Given the description of an element on the screen output the (x, y) to click on. 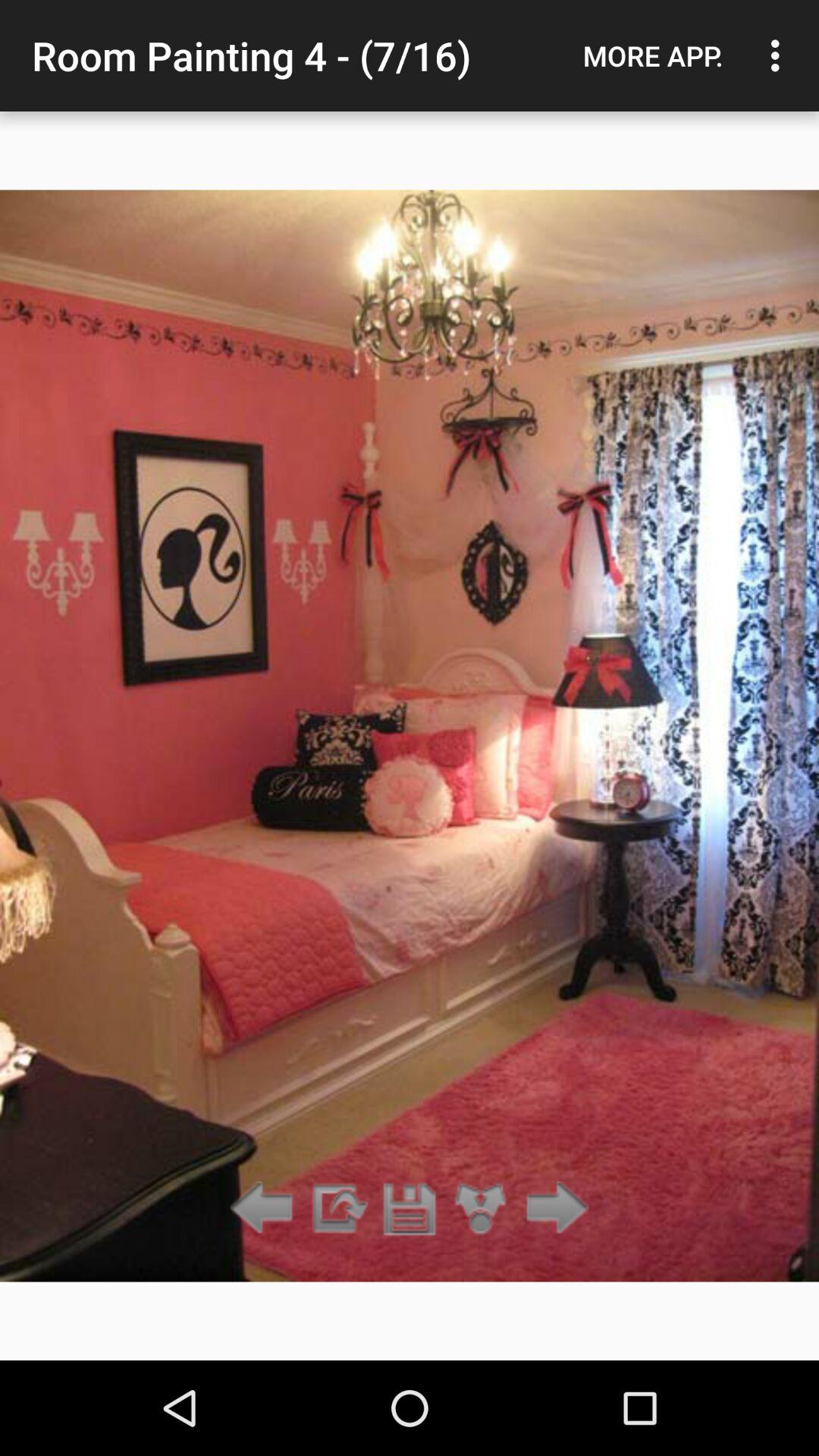
turn off item to the right of the more app. item (779, 55)
